Given the description of an element on the screen output the (x, y) to click on. 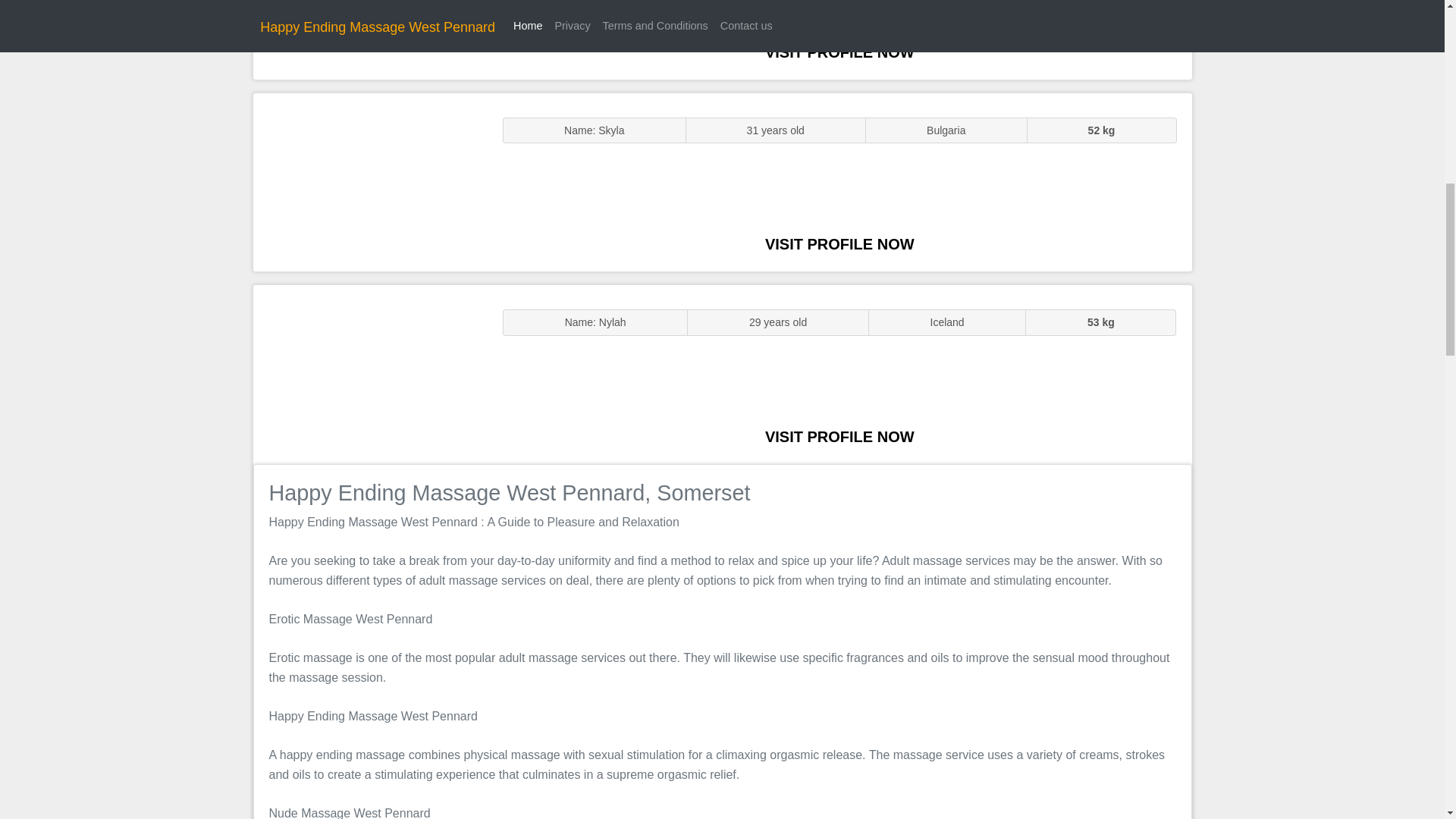
Massage (370, 374)
Sluts (370, 39)
VISIT PROFILE NOW (839, 52)
VISIT PROFILE NOW (839, 436)
VISIT PROFILE NOW (839, 243)
Sluts (370, 182)
